Given the description of an element on the screen output the (x, y) to click on. 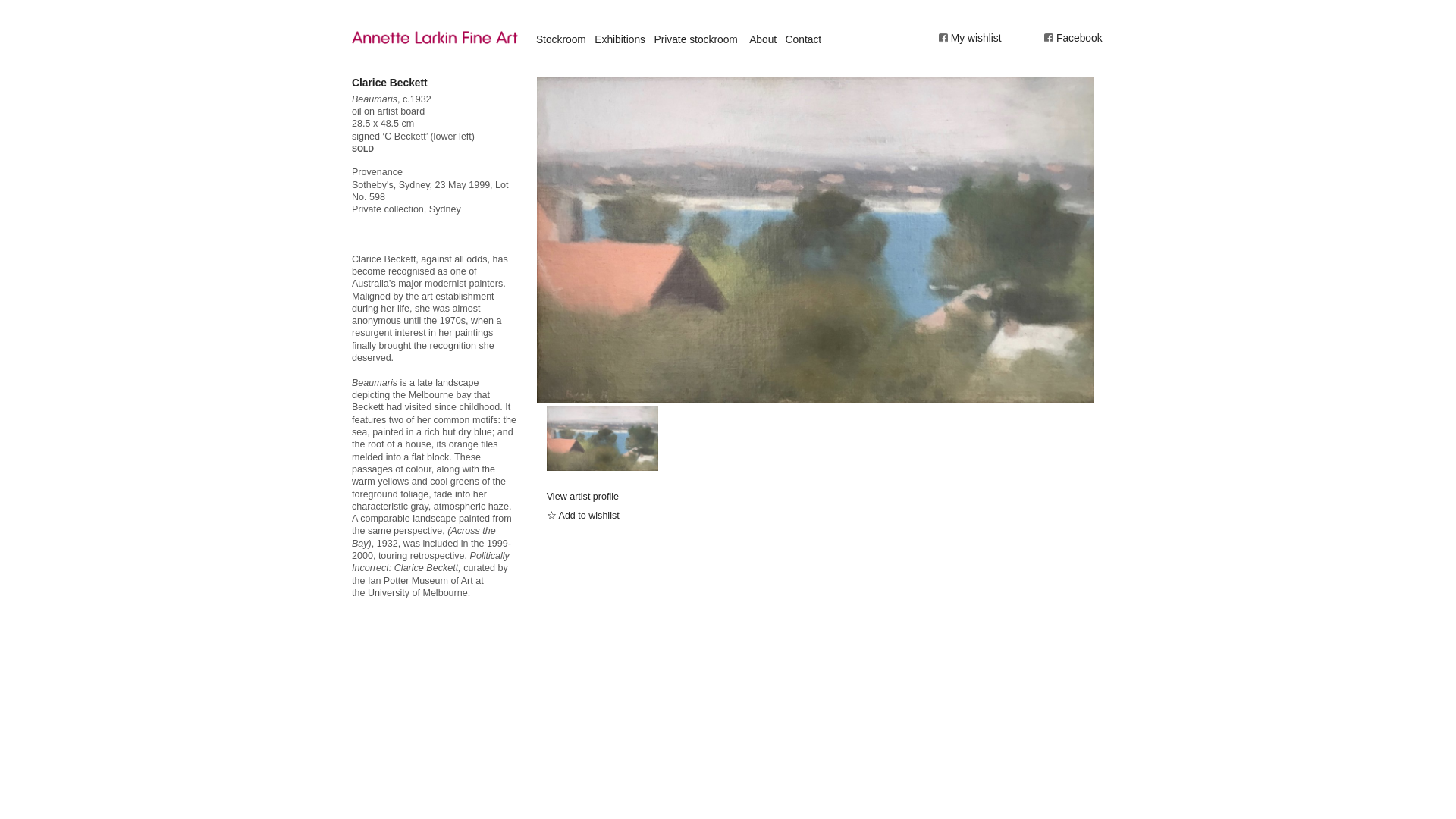
View artist profile (582, 496)
Facebook (1072, 37)
Exhibitions (619, 39)
About (762, 39)
Stockroom (560, 39)
My wishlist (968, 38)
Contact (804, 39)
Private stockroom (694, 39)
